Given the description of an element on the screen output the (x, y) to click on. 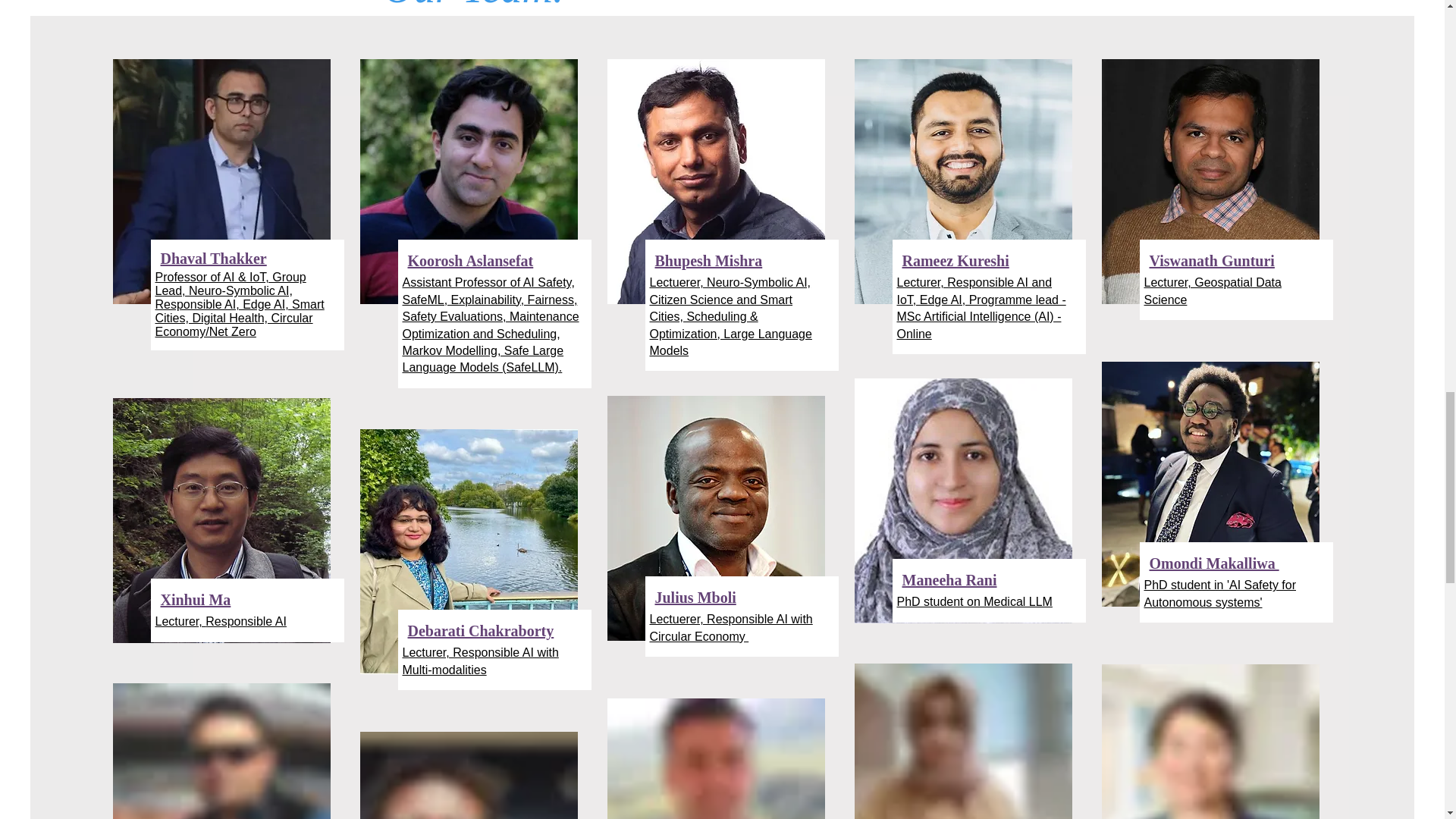
Bhupesh Mishra (708, 260)
Dhaval Thakker (213, 258)
Julius Mboli (695, 597)
Viswanath Gunturi (1212, 260)
Maneeha Rani (949, 579)
Lecturer, Responsible AI with Multi-modalities (479, 660)
Lecturer, Responsible AI (219, 621)
Lectuerer, Responsible AI with Circular Economy  (730, 627)
Koorosh Aslansefat (470, 260)
Xinhui Ma (195, 599)
